Given the description of an element on the screen output the (x, y) to click on. 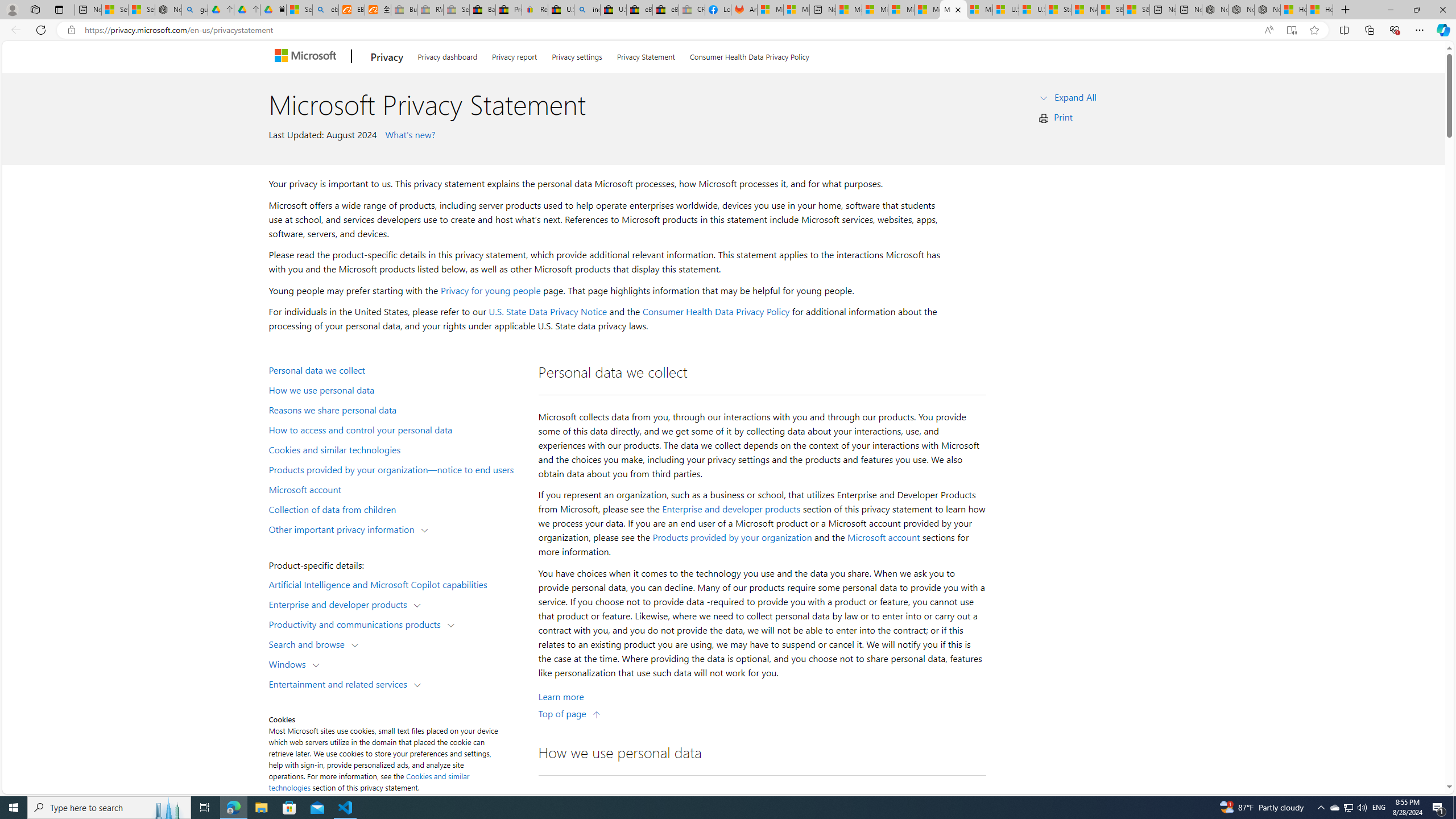
Privacy dashboard (447, 54)
Privacy report (514, 54)
